Given the description of an element on the screen output the (x, y) to click on. 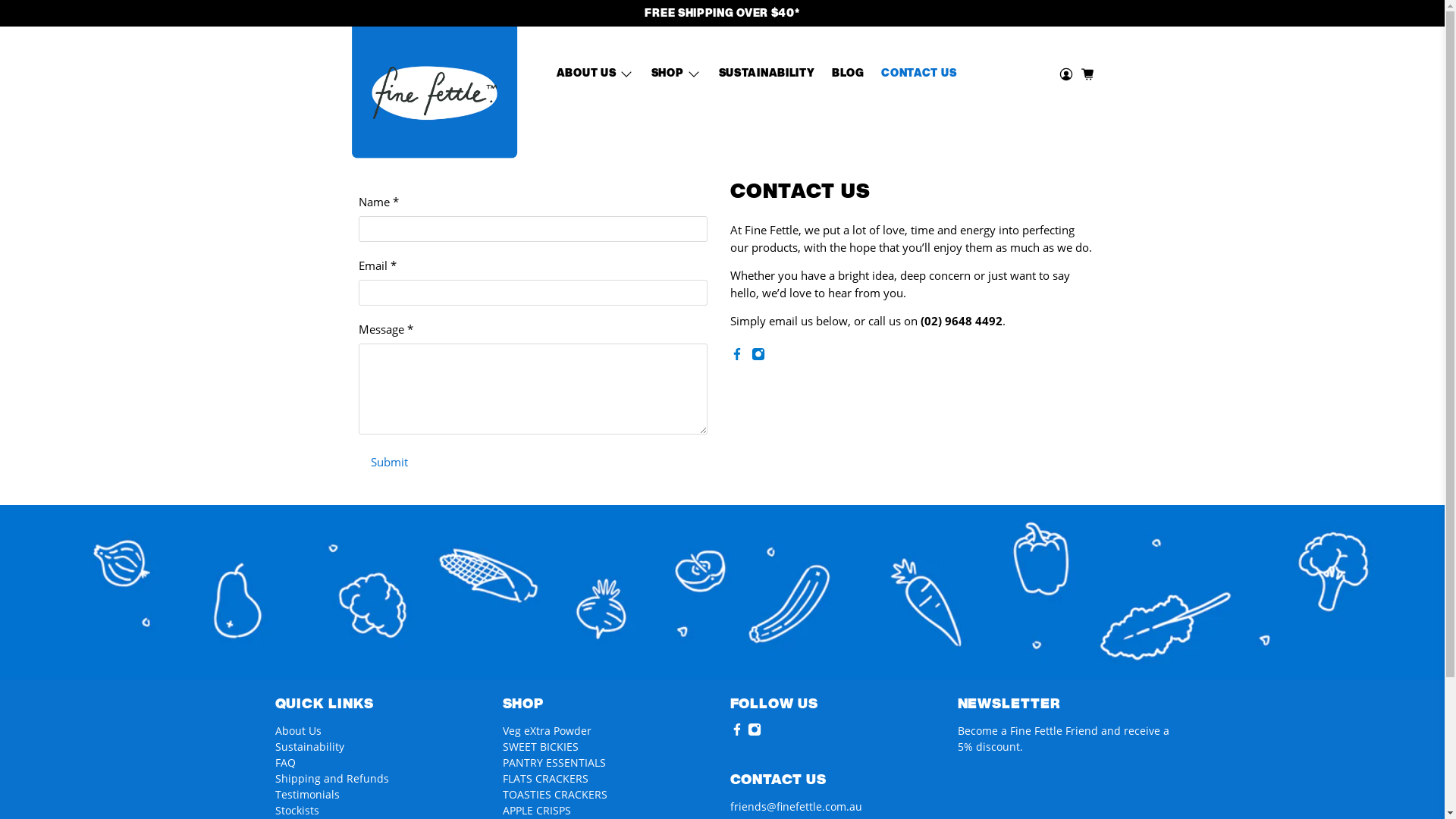
FLATS CRACKERS Element type: text (544, 778)
Testimonials Element type: text (306, 794)
Shipping and Refunds Element type: text (331, 778)
Stockists Element type: text (296, 810)
ABOUT US Element type: text (594, 73)
Fine Fettle on Facebook Element type: hover (736, 356)
SUSTAINABILITY Element type: text (765, 73)
About Us Element type: text (297, 730)
TOASTIES CRACKERS Element type: text (554, 794)
FAQ Element type: text (284, 762)
Fine Fettle on Instagram Element type: hover (754, 731)
SWEET BICKIES Element type: text (539, 746)
BLOG Element type: text (847, 73)
PANTRY ESSENTIALS Element type: text (553, 762)
Fine Fettle on Facebook Element type: hover (736, 731)
Submit Element type: text (388, 461)
friends@finefettle.com.au Element type: text (795, 806)
APPLE CRISPS Element type: text (536, 810)
Veg eXtra Powder Element type: text (546, 730)
Fine Fettle Element type: hover (433, 92)
Fine Fettle on Instagram Element type: hover (757, 356)
CONTACT US Element type: text (918, 73)
Sustainability Element type: text (308, 746)
SHOP Element type: text (675, 73)
